Given the description of an element on the screen output the (x, y) to click on. 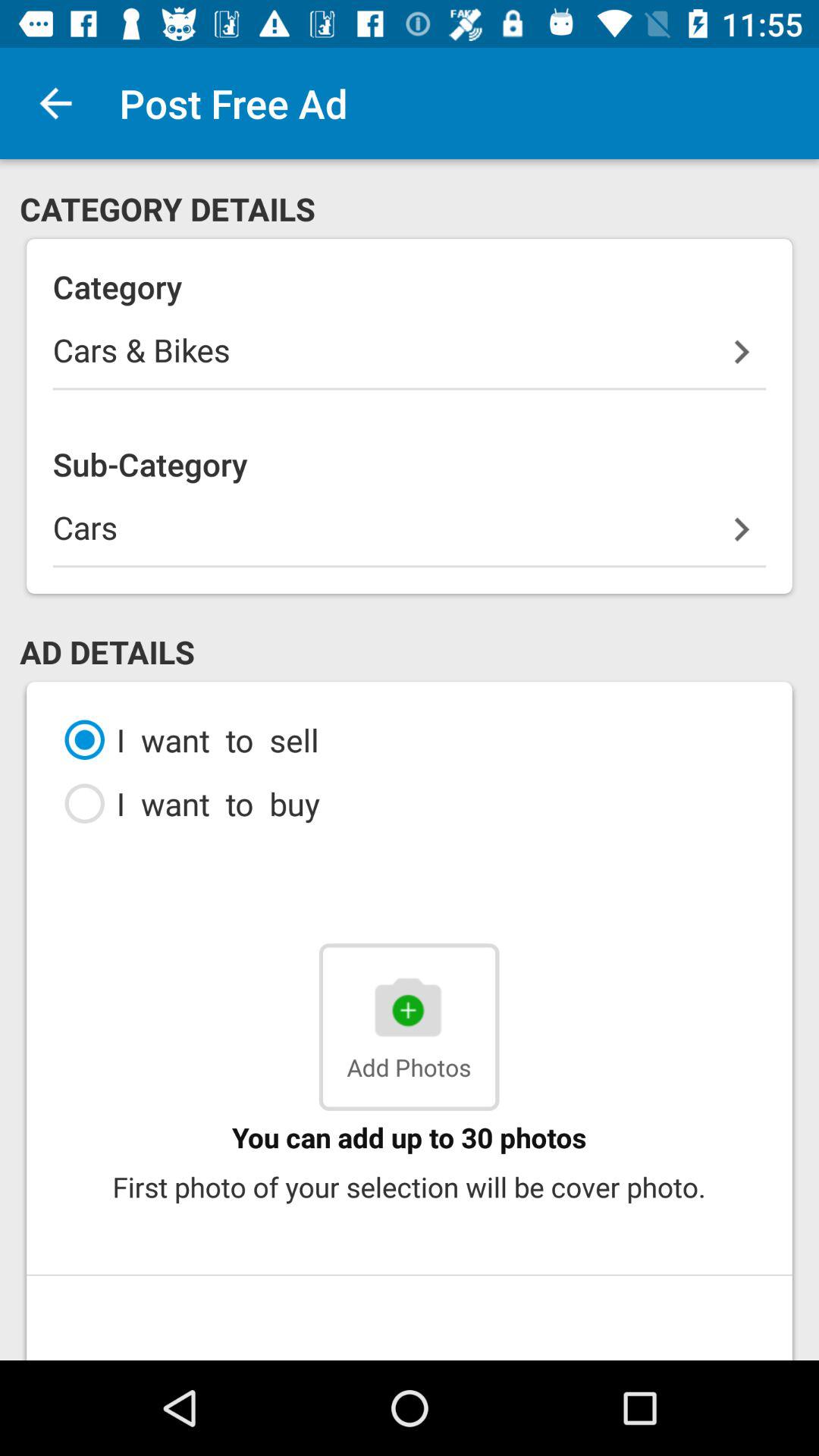
turn on icon above sub-category (409, 359)
